Given the description of an element on the screen output the (x, y) to click on. 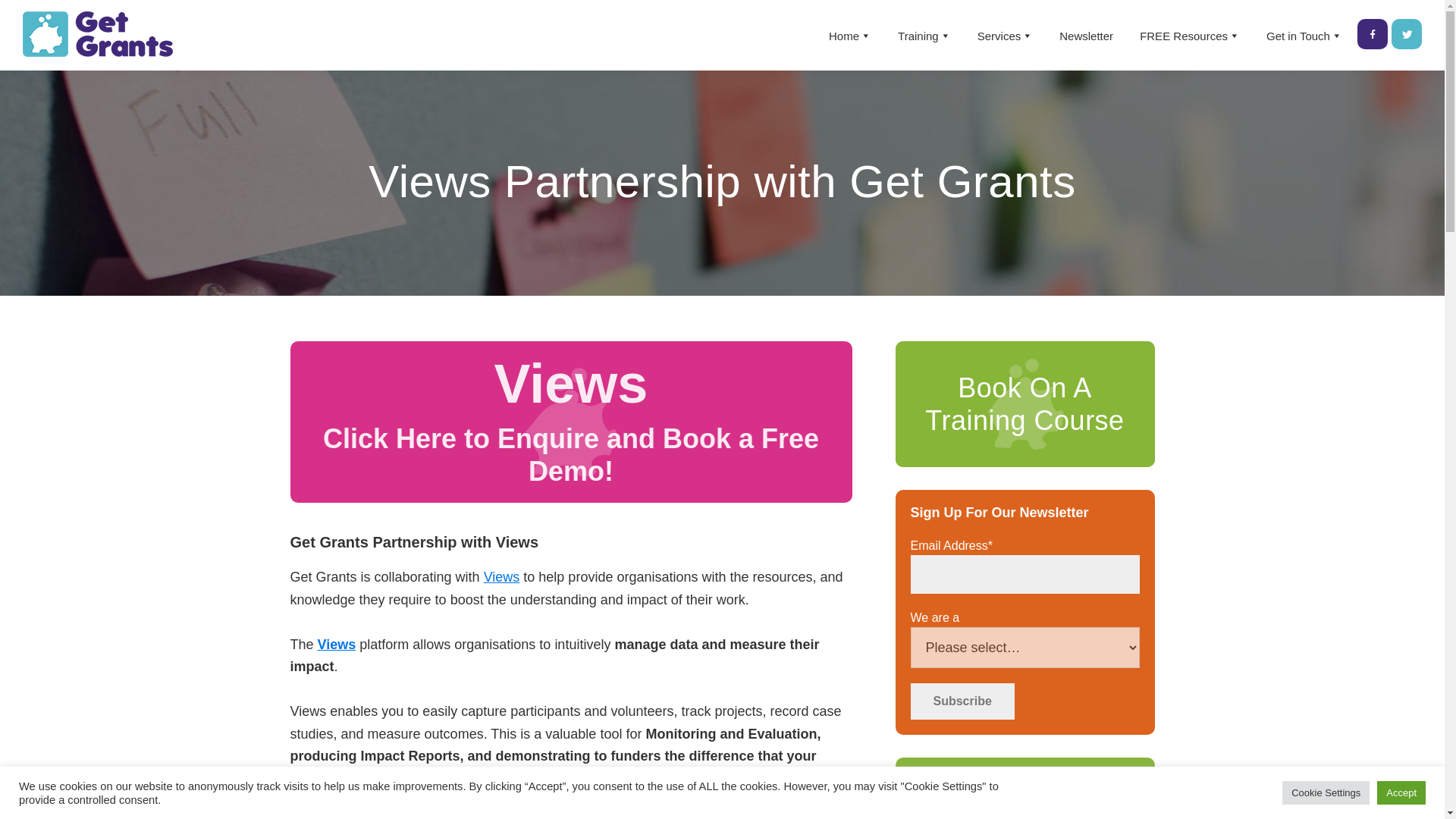
Subscribe (961, 701)
Get Grants (47, 71)
Home (849, 35)
Training (924, 35)
